Given the description of an element on the screen output the (x, y) to click on. 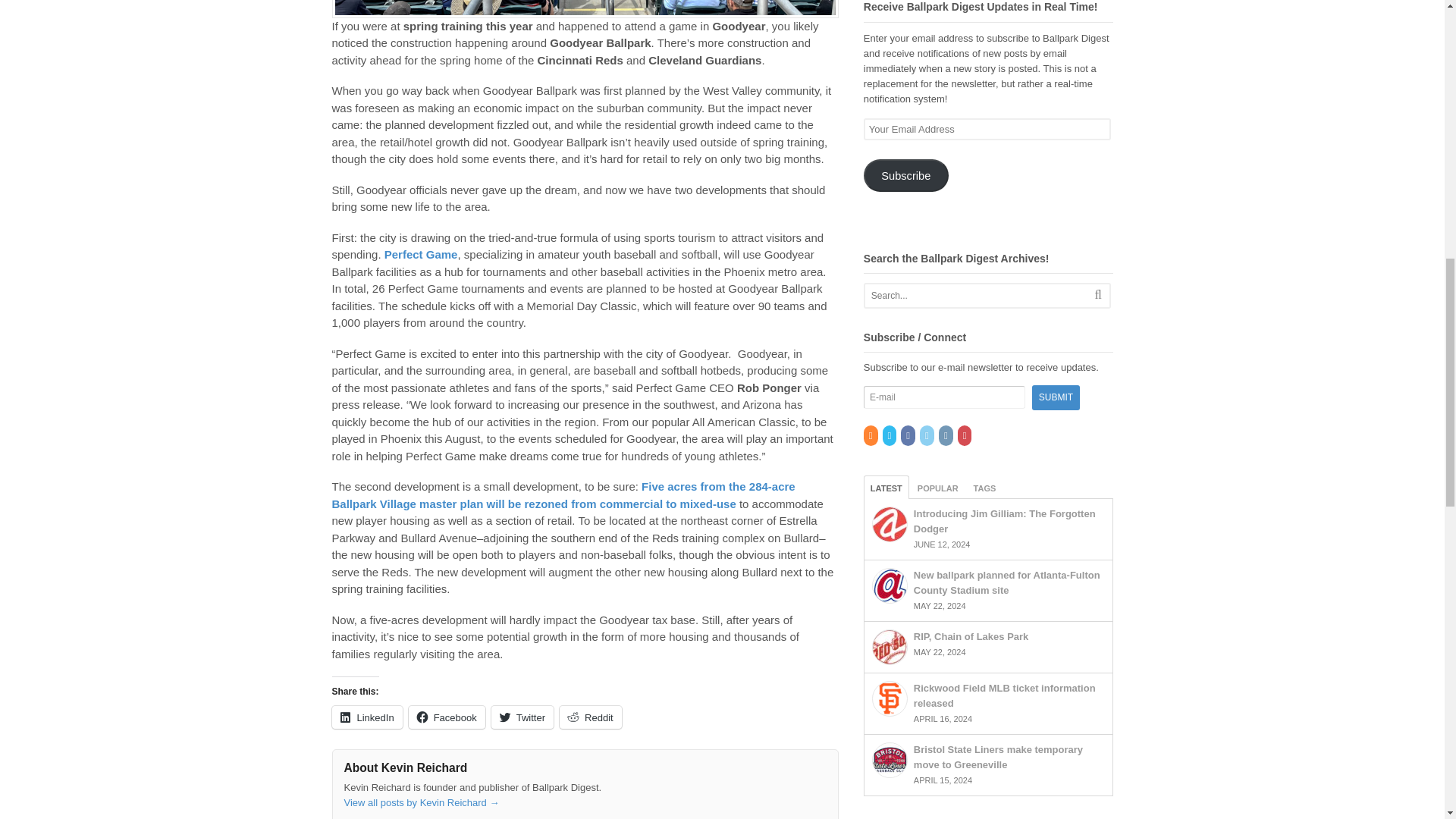
Perfect Game (421, 254)
Click to share on Reddit (590, 716)
Click to share on Facebook (446, 716)
Click to share on LinkedIn (367, 716)
Submit (1056, 397)
Click to share on Twitter (522, 716)
Search... (974, 295)
E-mail (944, 396)
